Given the description of an element on the screen output the (x, y) to click on. 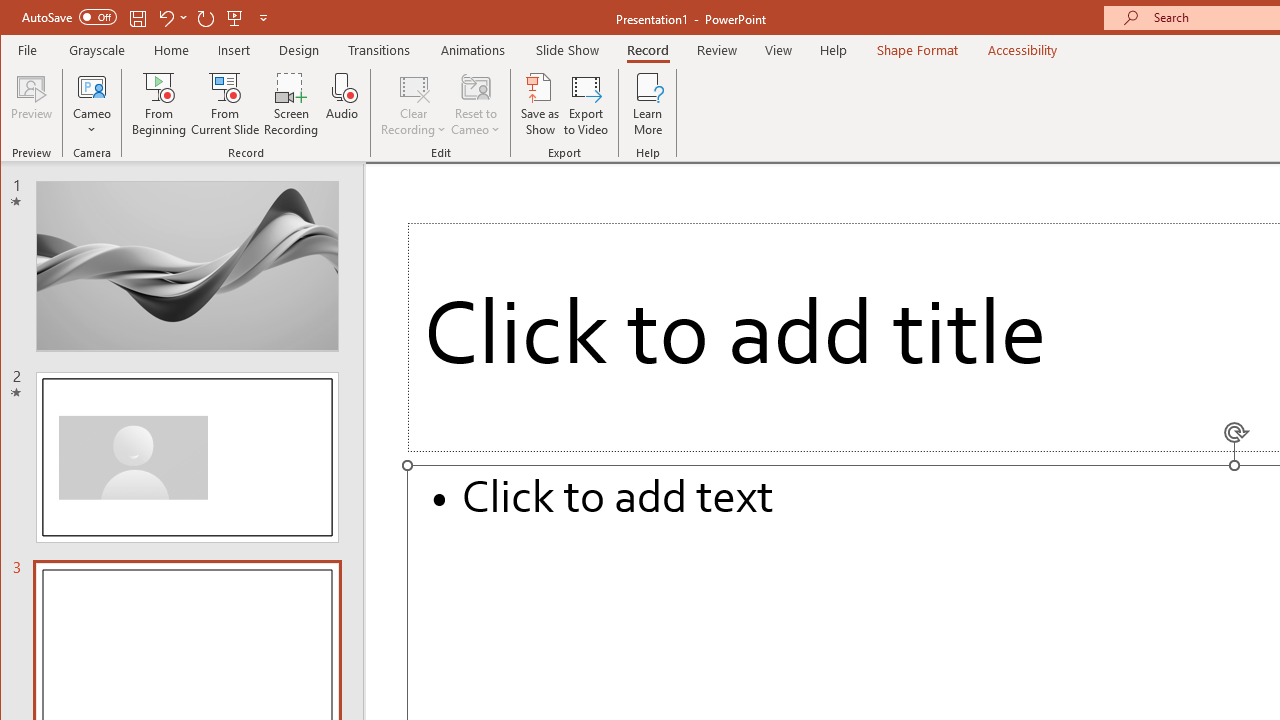
Learn More (648, 104)
Transitions (379, 50)
Insert (233, 50)
Save (138, 17)
More Options (91, 123)
From Beginning... (159, 104)
Slide (187, 457)
Save as Show (539, 104)
Reset to Cameo (476, 104)
Preview (31, 104)
Cameo (91, 86)
File Tab (28, 49)
